Given the description of an element on the screen output the (x, y) to click on. 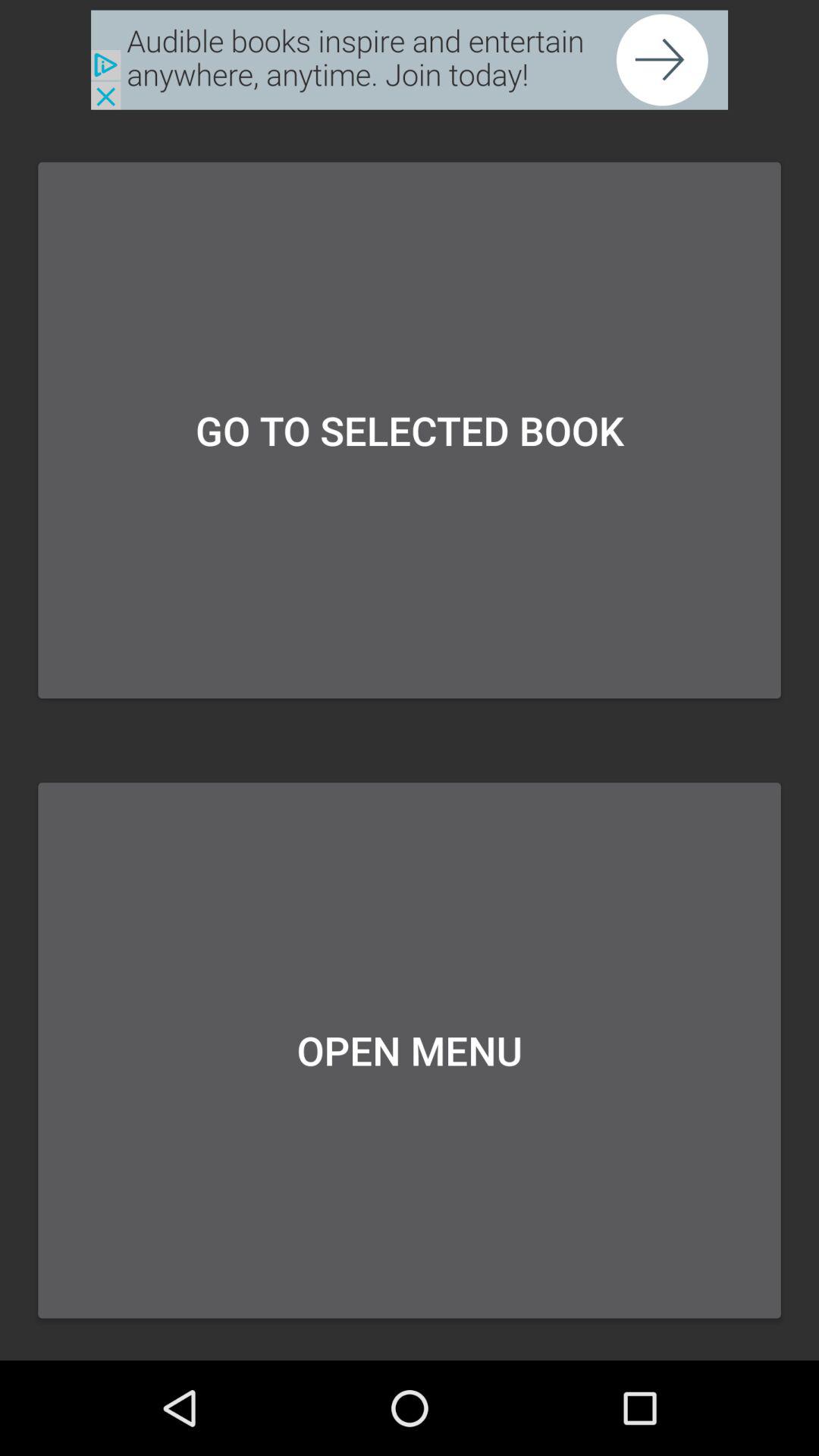
go to advertisement (409, 59)
